Given the description of an element on the screen output the (x, y) to click on. 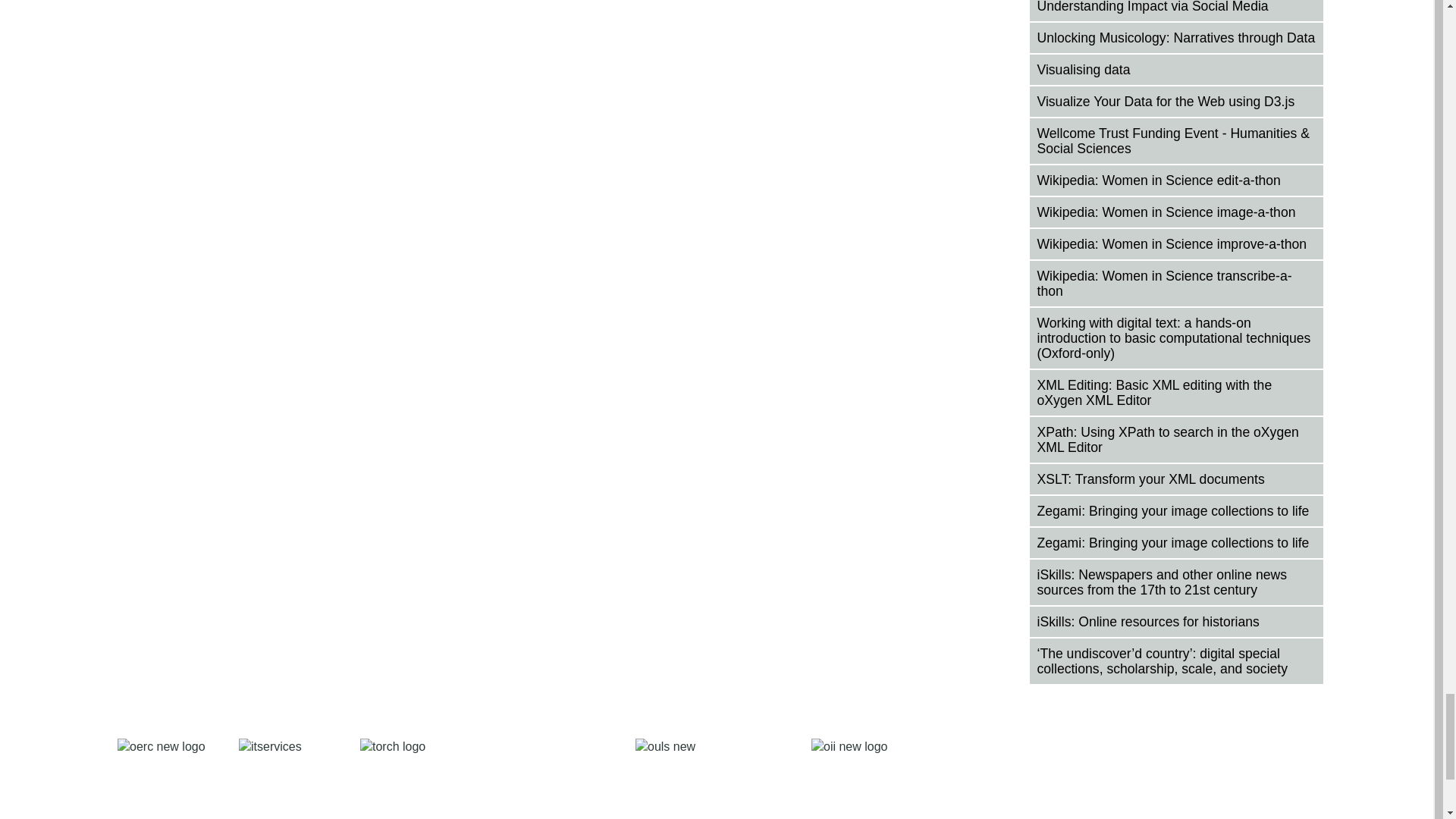
Bodleian Libraries (707, 778)
IT Services (284, 778)
TORCH (482, 778)
Oxford Internet Institute (856, 778)
Oxford e-Research Centre (162, 778)
